Given the description of an element on the screen output the (x, y) to click on. 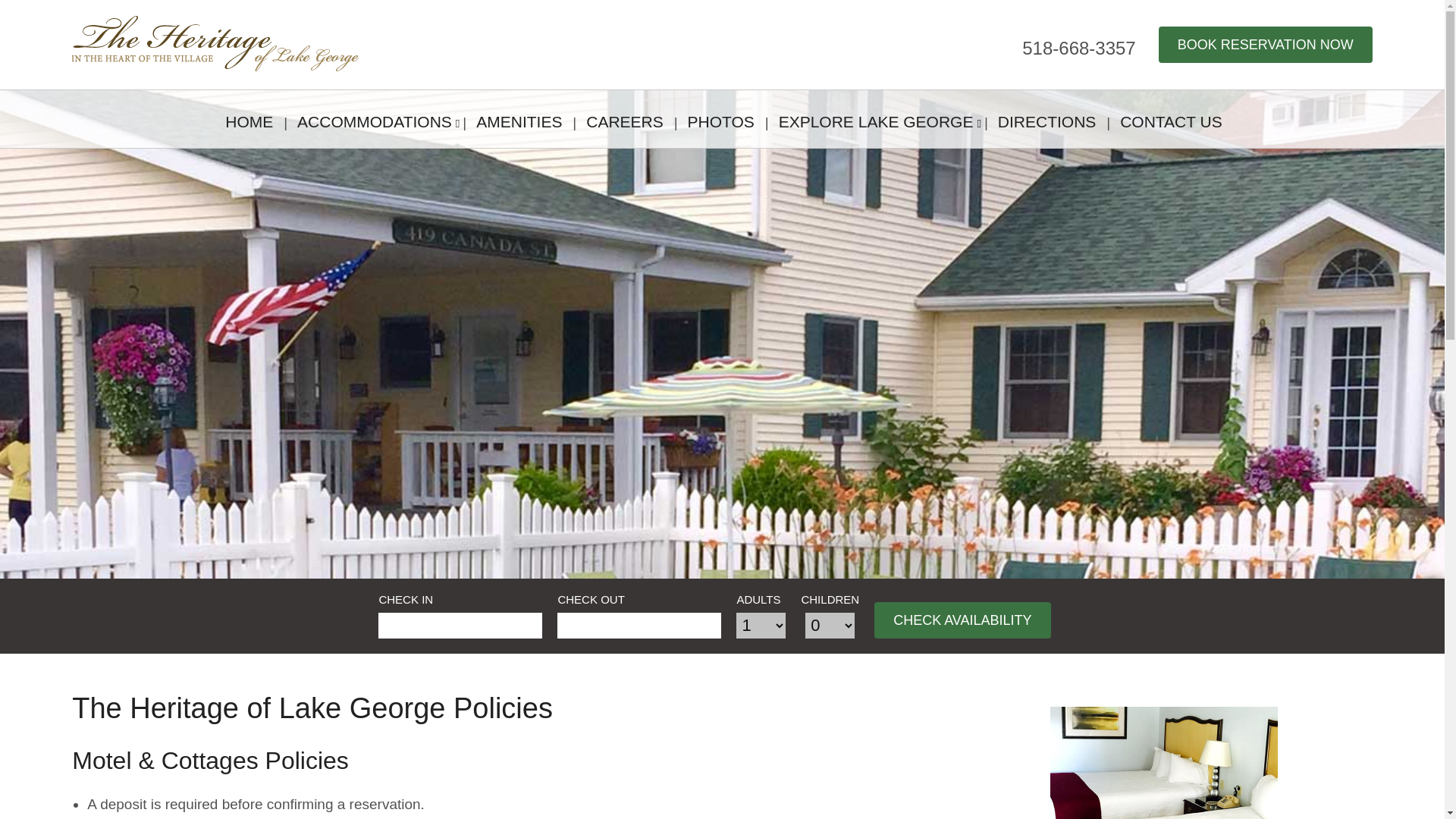
HOME (248, 119)
AMENITIES (519, 119)
BOOK RESERVATION NOW (1265, 44)
Check Availability (962, 619)
PHOTOS (721, 119)
Check Availability (962, 619)
CAREERS (624, 119)
DIRECTIONS (1046, 119)
ACCOMMODATIONS (369, 119)
EXPLORE LAKE GEORGE (870, 119)
CONTACT US (1170, 119)
518-668-3357 (1078, 47)
